Given the description of an element on the screen output the (x, y) to click on. 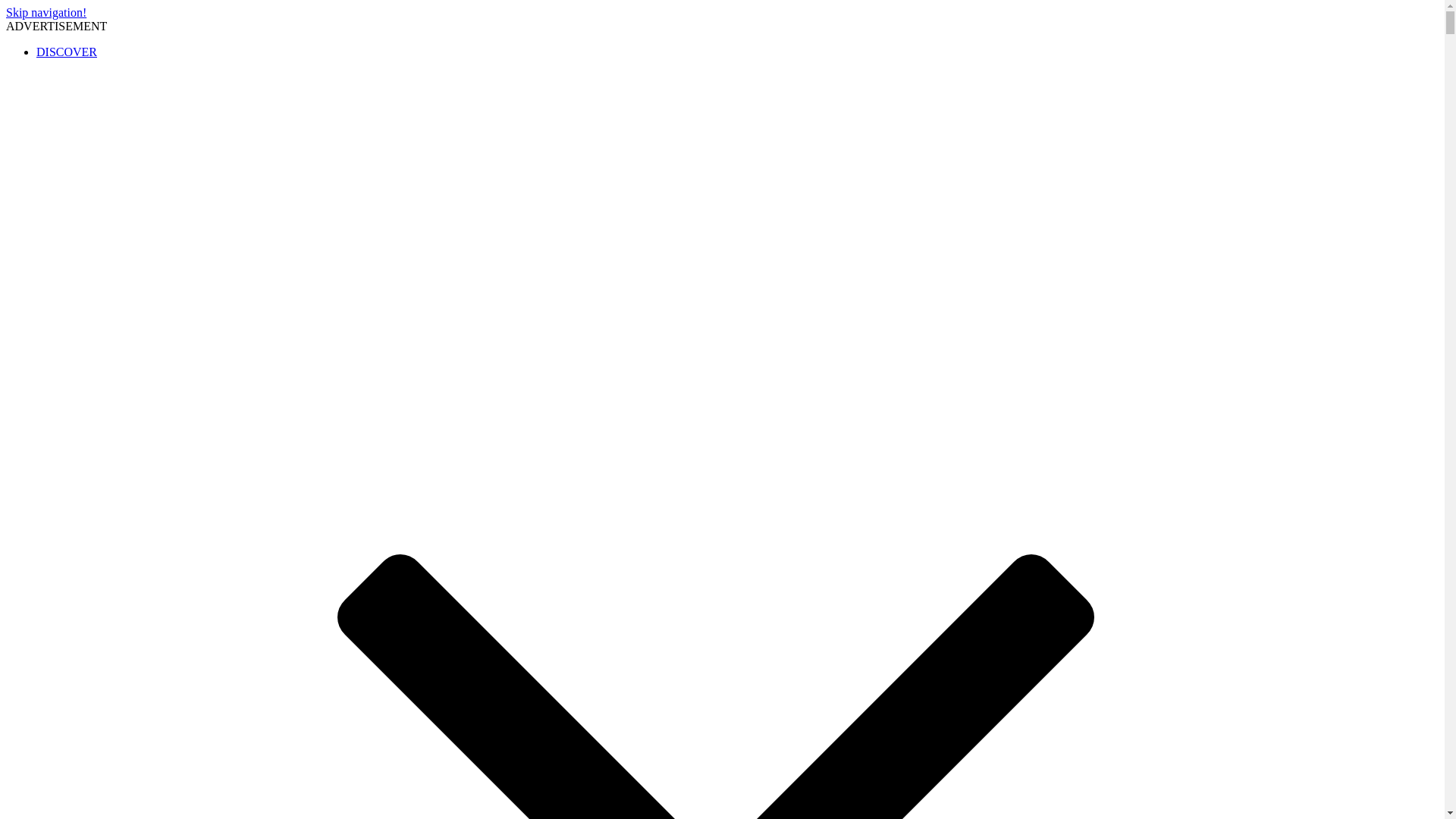
DISCOVER (66, 51)
Skip navigation! (45, 11)
